Given the description of an element on the screen output the (x, y) to click on. 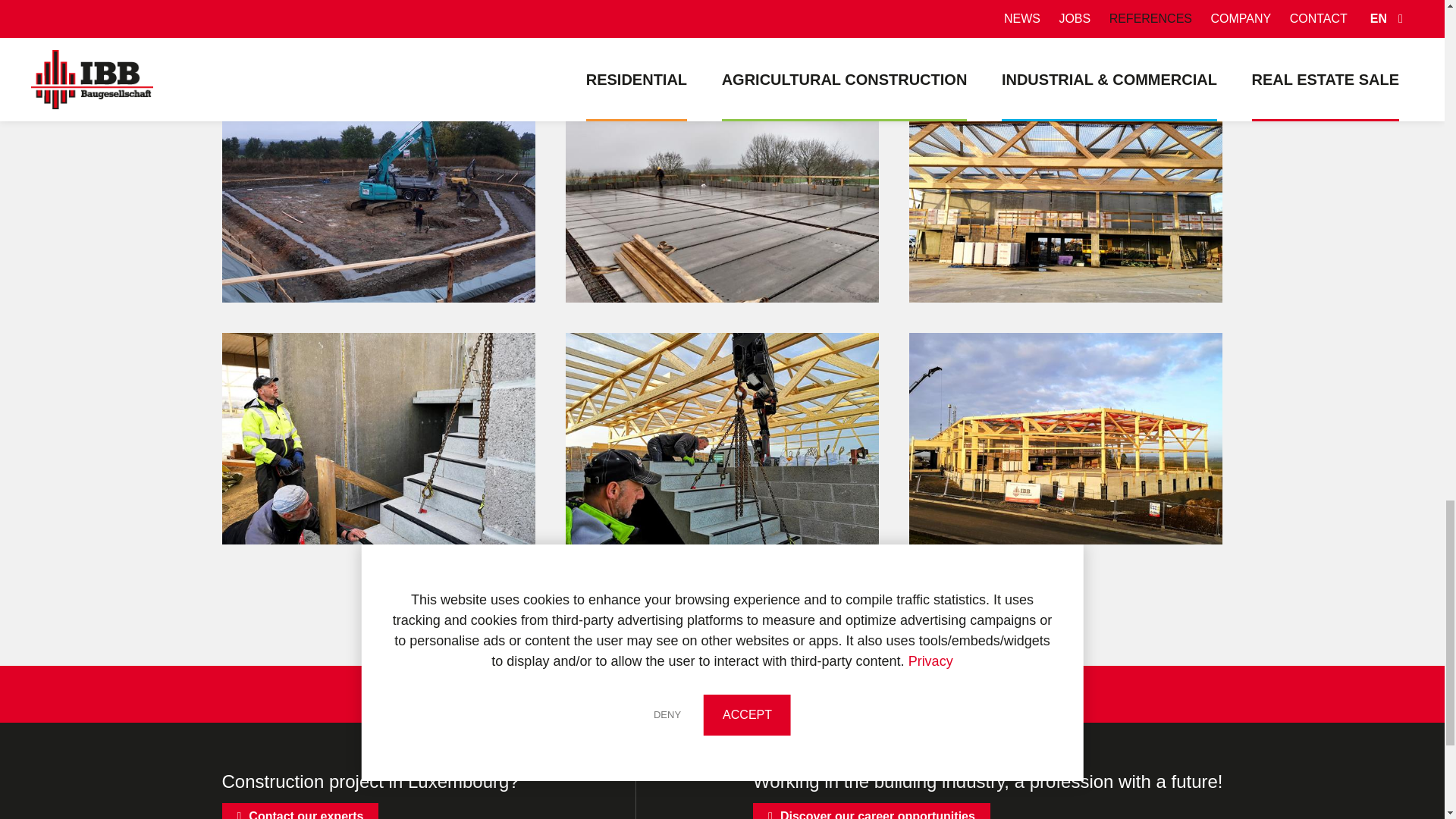
OVERVIEW (740, 694)
Lux-Autoland - A completely new company building (722, 196)
New automobile centre with spacious showroom (377, 438)
Lux-Autoland - A completely new company building (377, 196)
New automobile centre with spacious showroom (722, 438)
New automobile centre with spacious showroom (1065, 196)
NEXT PROJECT (889, 694)
Discover our career opportunities (871, 811)
PREVIOUS PROJECT (572, 694)
Contact our experts (299, 811)
